Given the description of an element on the screen output the (x, y) to click on. 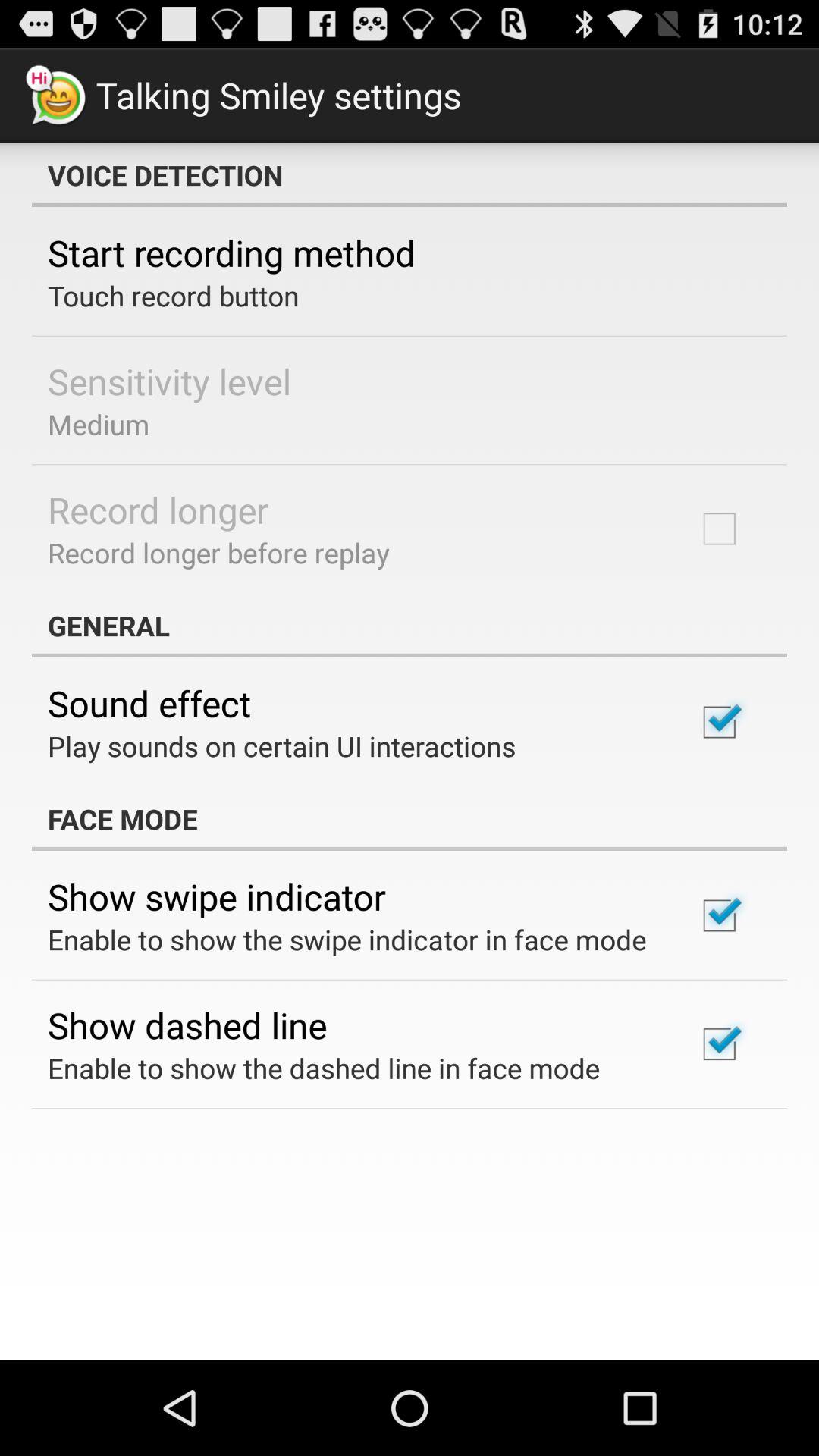
jump to the play sounds on (281, 745)
